Given the description of an element on the screen output the (x, y) to click on. 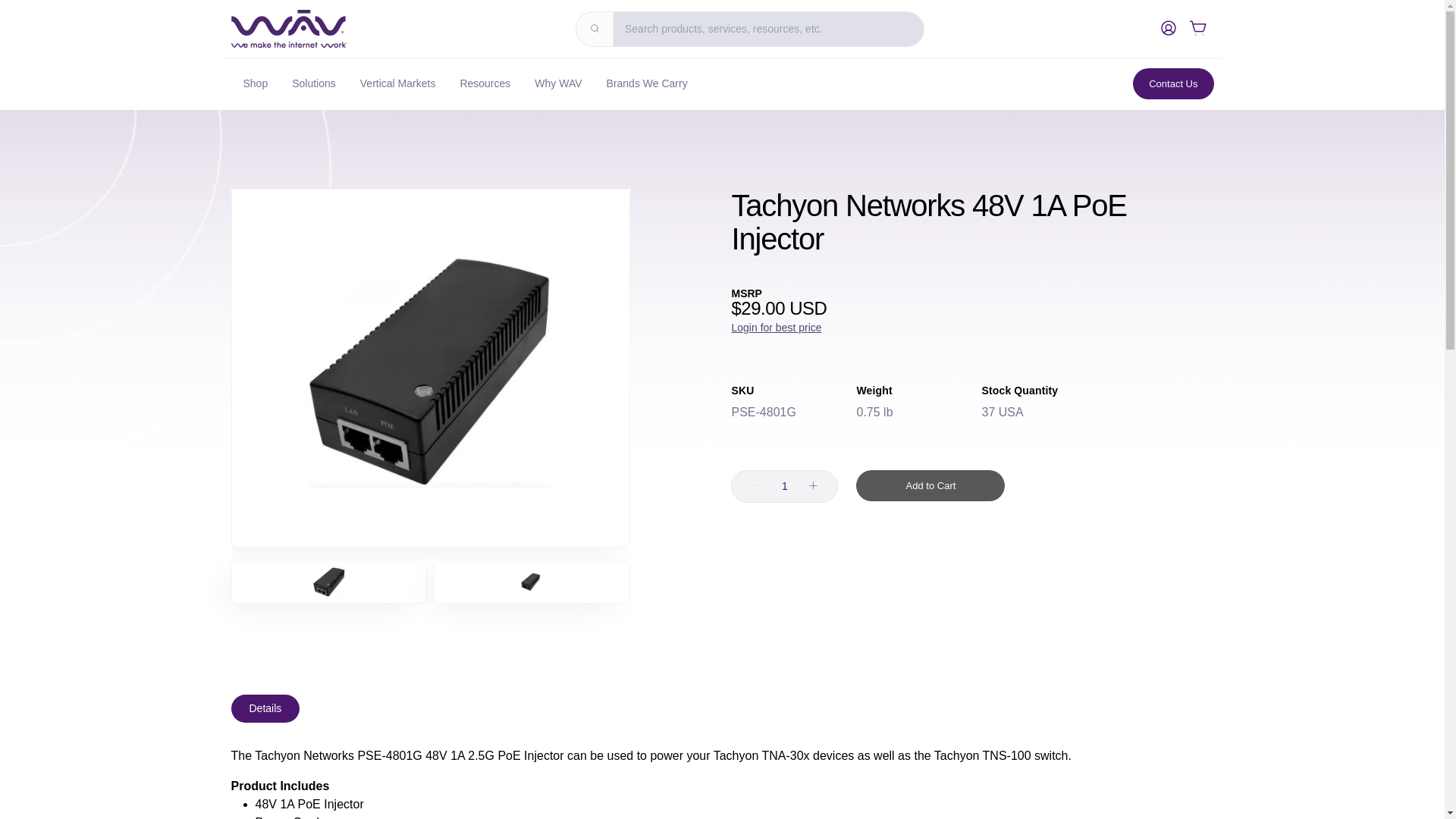
Shop (254, 83)
1 (783, 486)
WAV, LLC (288, 28)
